Given the description of an element on the screen output the (x, y) to click on. 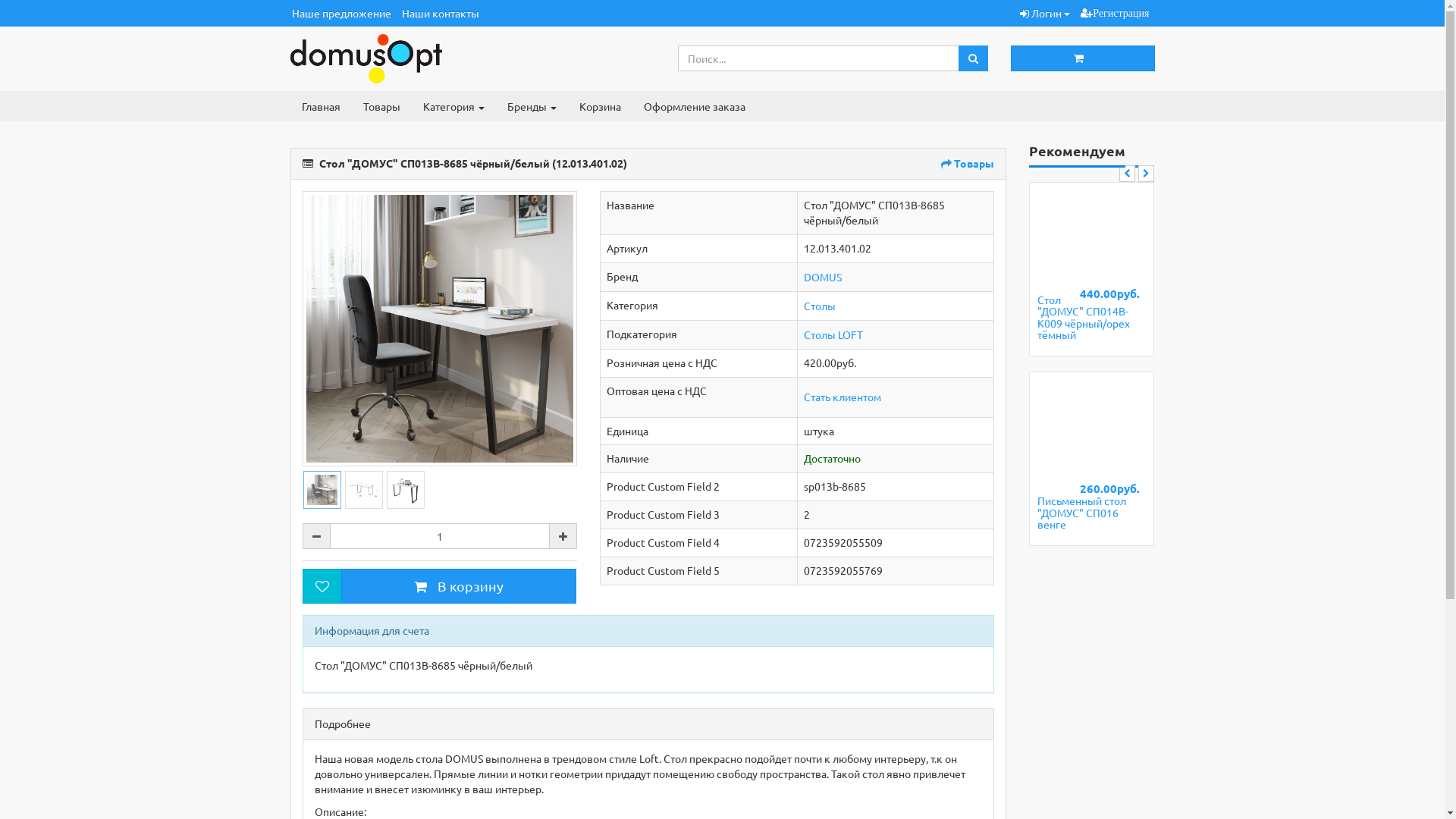
DOMUS Element type: text (822, 276)
